Given the description of an element on the screen output the (x, y) to click on. 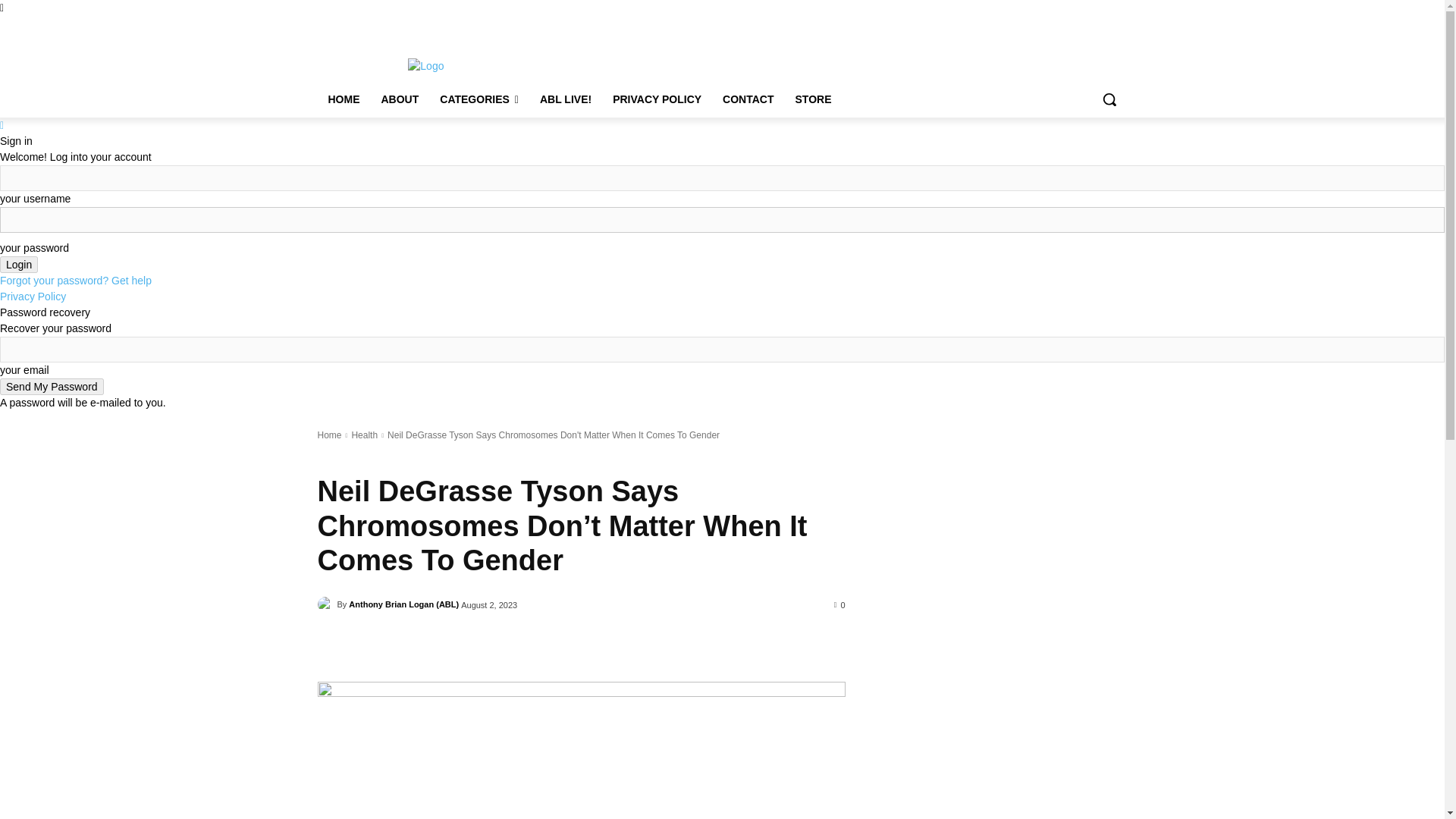
Instagram (1055, 27)
Send My Password (51, 386)
Youtube (1117, 27)
ABOUT (399, 99)
Twitter (1075, 27)
View all posts in Health (363, 434)
Privacy Policy (629, 25)
CATEGORIES (479, 99)
Home (438, 25)
Store (717, 25)
Contact (680, 25)
HOME (343, 99)
Categories (519, 25)
Vimeo (1097, 27)
About (472, 25)
